Given the description of an element on the screen output the (x, y) to click on. 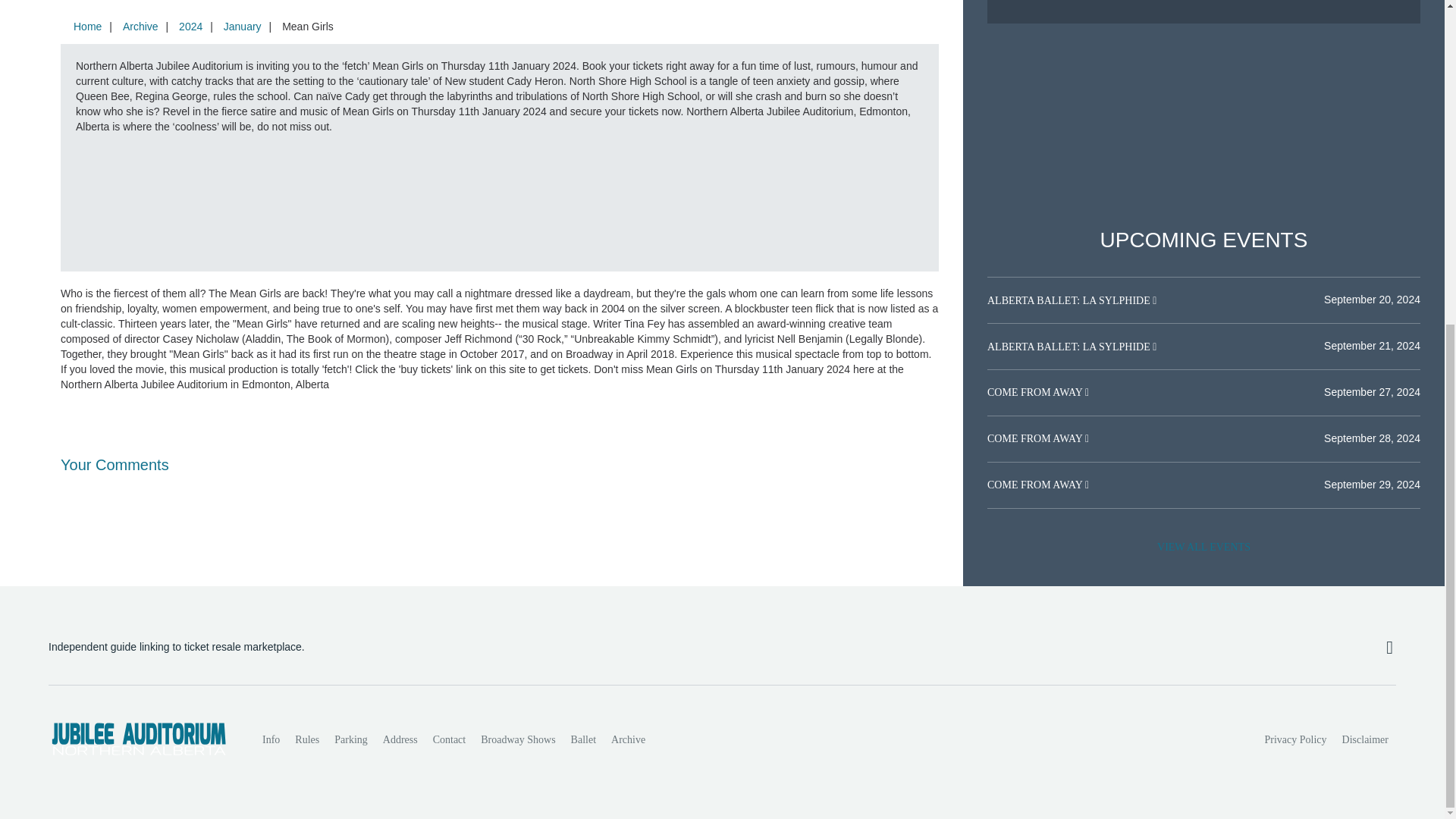
Address (400, 739)
Disclaimer (1365, 739)
Advertisement (1204, 126)
2024 (190, 26)
Archive (140, 26)
Home (87, 26)
Broadway Shows (517, 739)
Rules (306, 739)
VIEW ALL EVENTS (1203, 547)
Parking (350, 739)
Info (270, 739)
Privacy Policy (1296, 739)
Archive (628, 739)
January (242, 26)
Contact (449, 739)
